Given the description of an element on the screen output the (x, y) to click on. 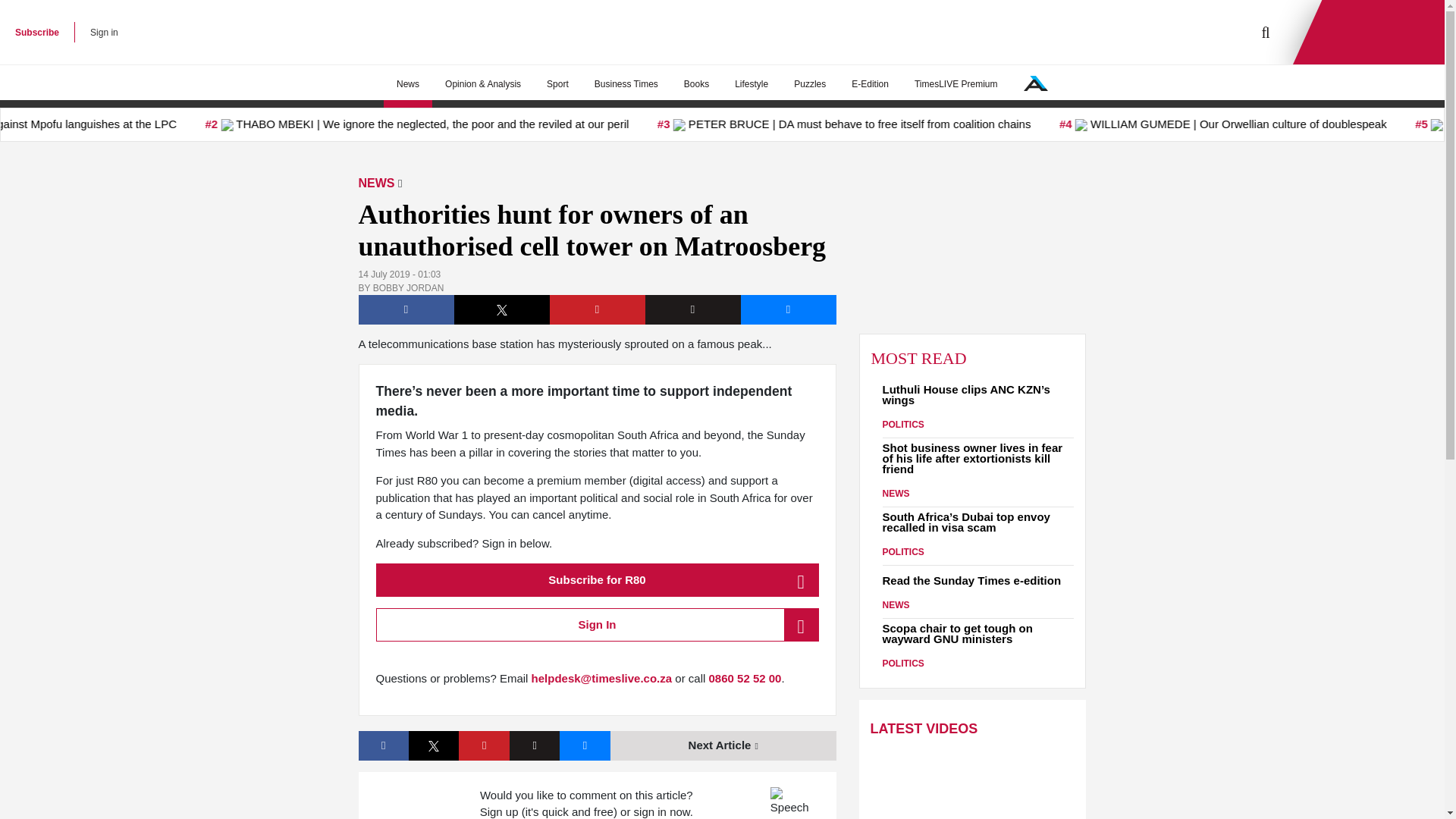
E-Edition (869, 84)
Lifestyle (751, 84)
Sign in (103, 32)
Sport (557, 84)
Puzzles (809, 84)
News (408, 84)
Books (696, 84)
Business Times (625, 84)
Subscribe (36, 32)
TimesLIVE Premium (955, 84)
